Given the description of an element on the screen output the (x, y) to click on. 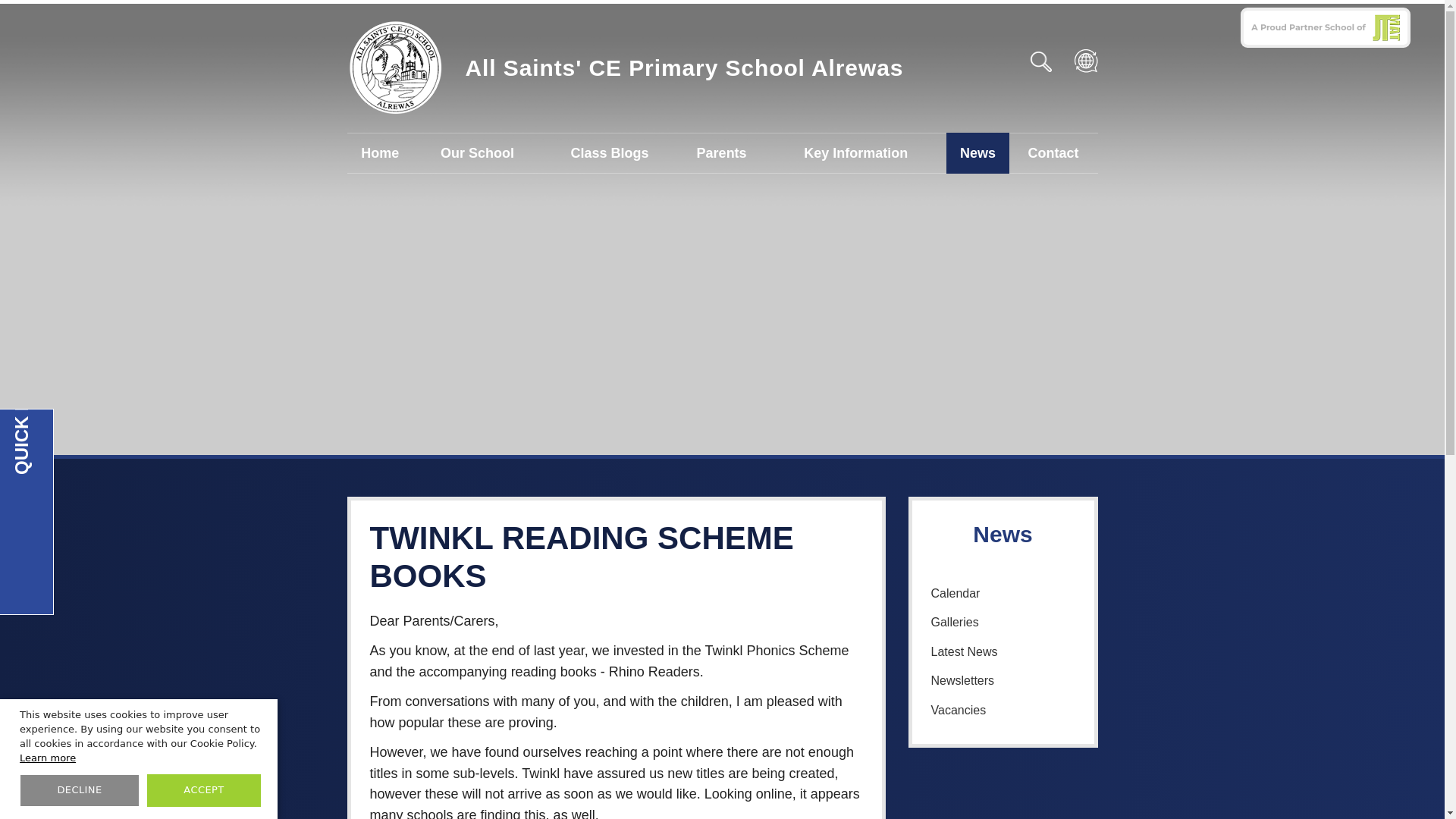
Class Blogs (609, 152)
Parents (721, 152)
All Saints' CE Primary School Alrewas (625, 68)
Search site (1044, 61)
Home (380, 152)
Our School (477, 152)
Search site (1044, 61)
